Given the description of an element on the screen output the (x, y) to click on. 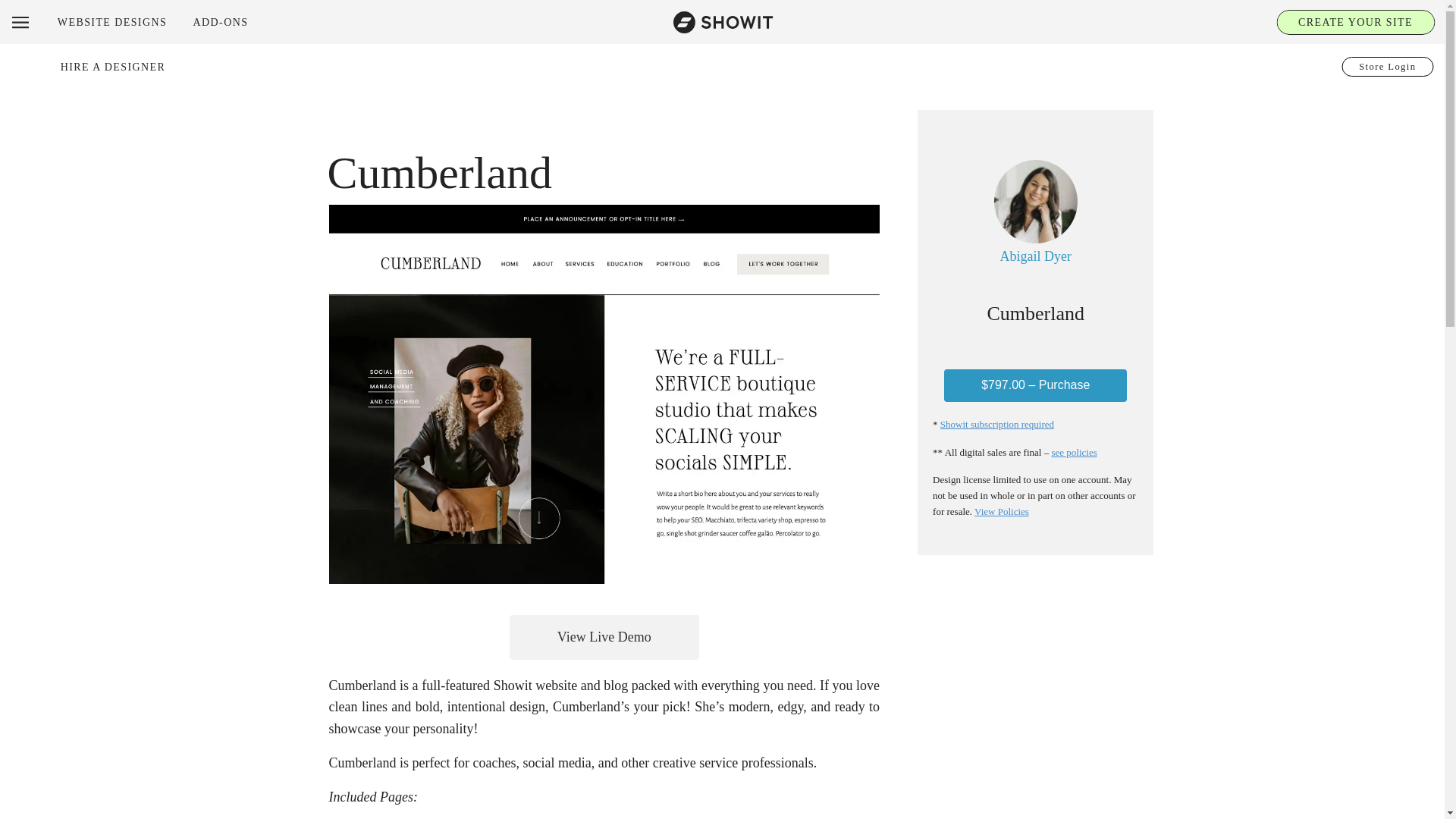
ADD-ONS (220, 21)
Abigail Dyer (1035, 255)
Store Login (1387, 66)
HIRE A DESIGNER (113, 66)
View Policies (1001, 511)
see policies (1073, 451)
View Live Demo (603, 637)
Showit subscription required (997, 423)
WEBSITE DESIGNS (111, 21)
